Given the description of an element on the screen output the (x, y) to click on. 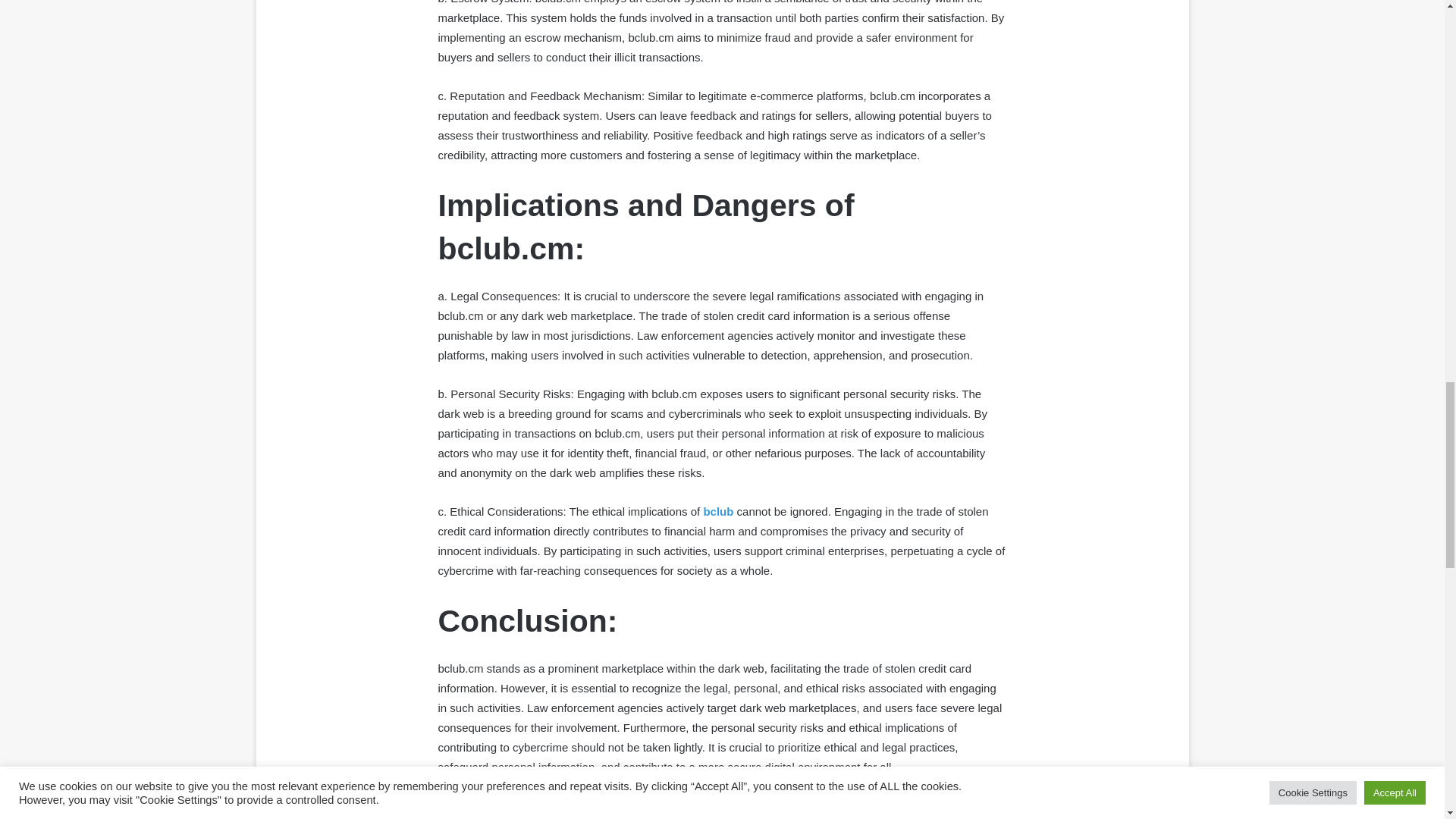
bclub (490, 808)
bclub (718, 511)
bclub.cm (531, 808)
